Given the description of an element on the screen output the (x, y) to click on. 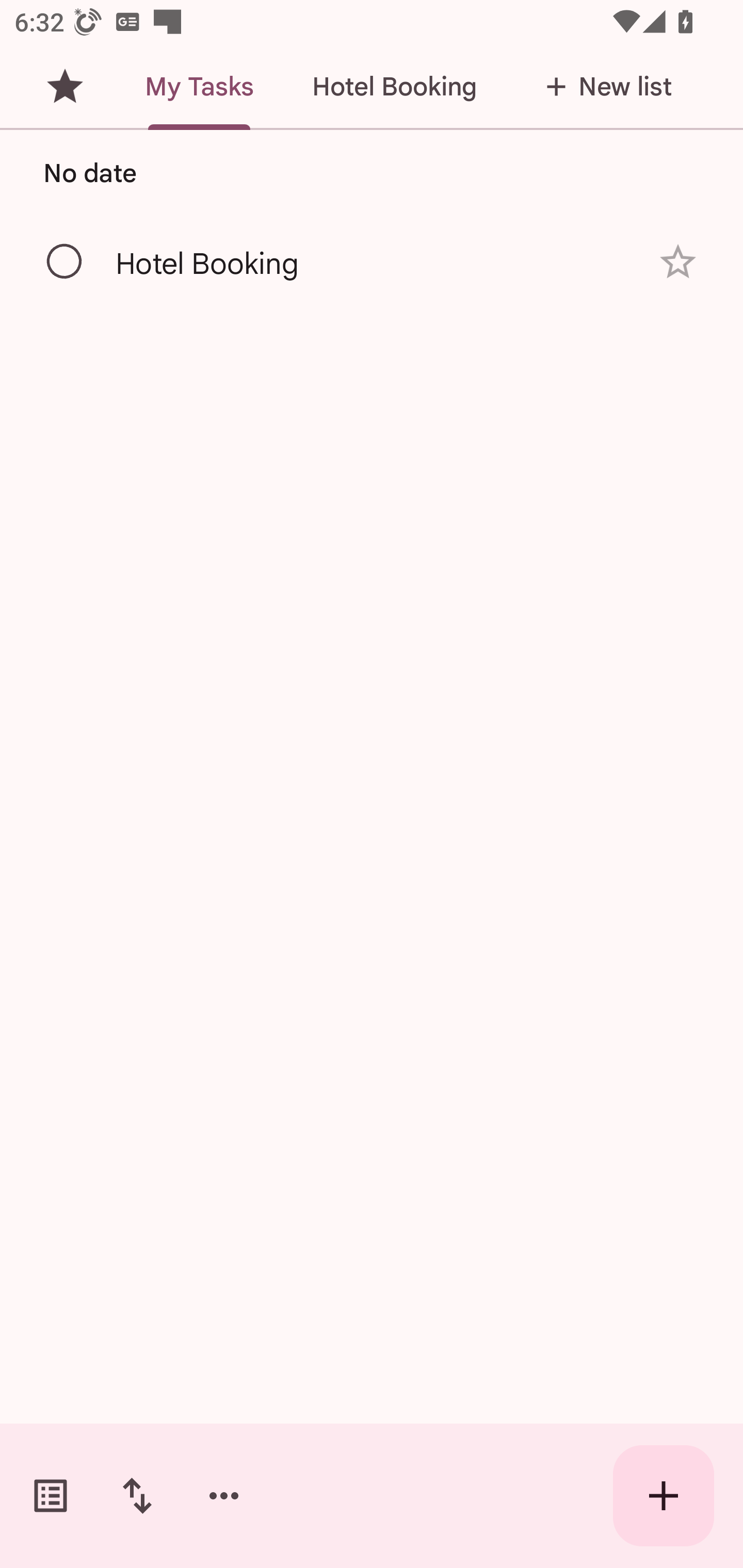
Starred (64, 86)
Hotel Booking (394, 86)
New list (602, 86)
Add star (677, 261)
Mark as complete (64, 261)
Switch task lists (50, 1495)
Create new task (663, 1495)
Change sort order (136, 1495)
More options (223, 1495)
